Given the description of an element on the screen output the (x, y) to click on. 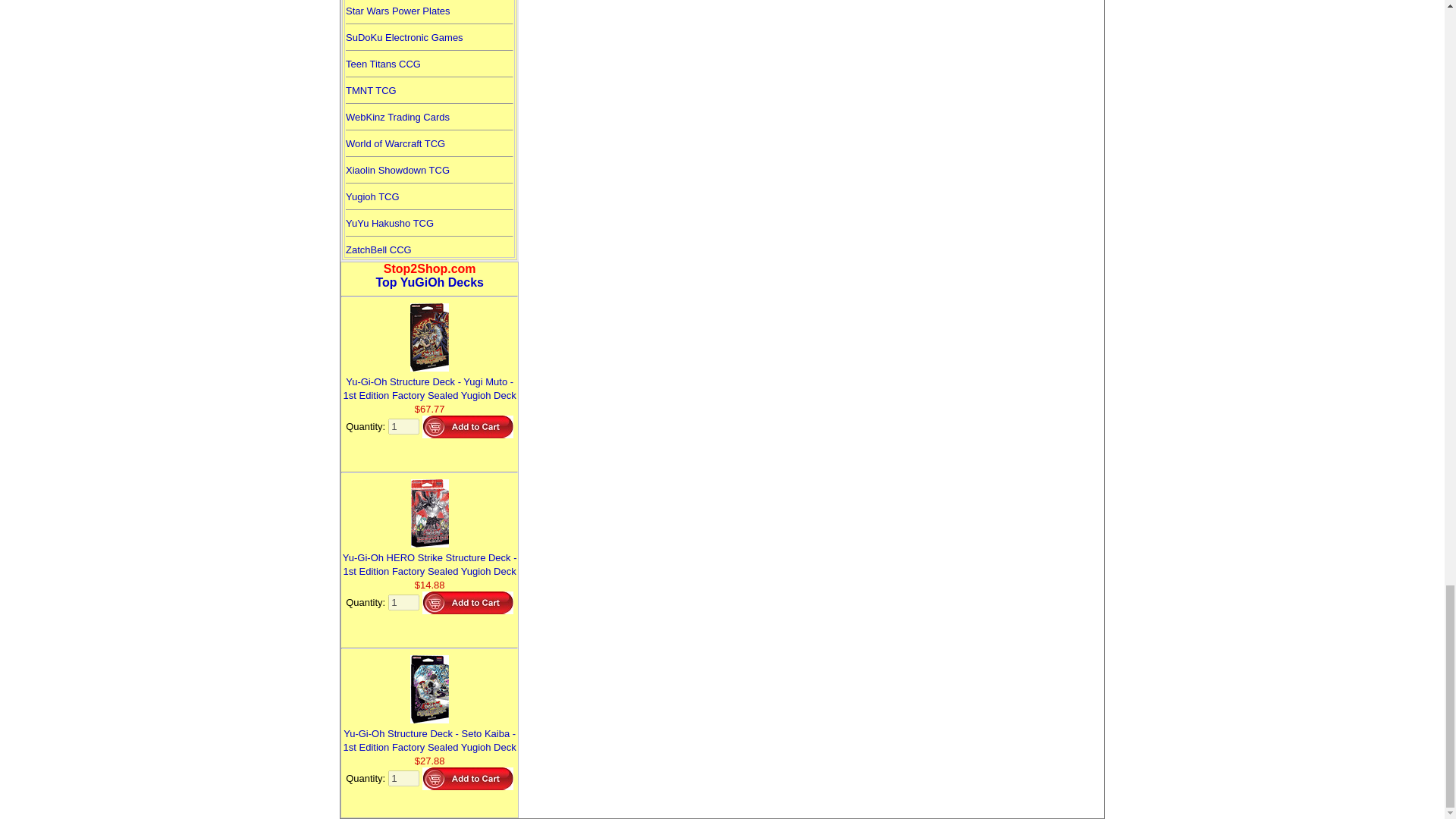
1 (403, 602)
1 (403, 426)
1 (403, 778)
